Given the description of an element on the screen output the (x, y) to click on. 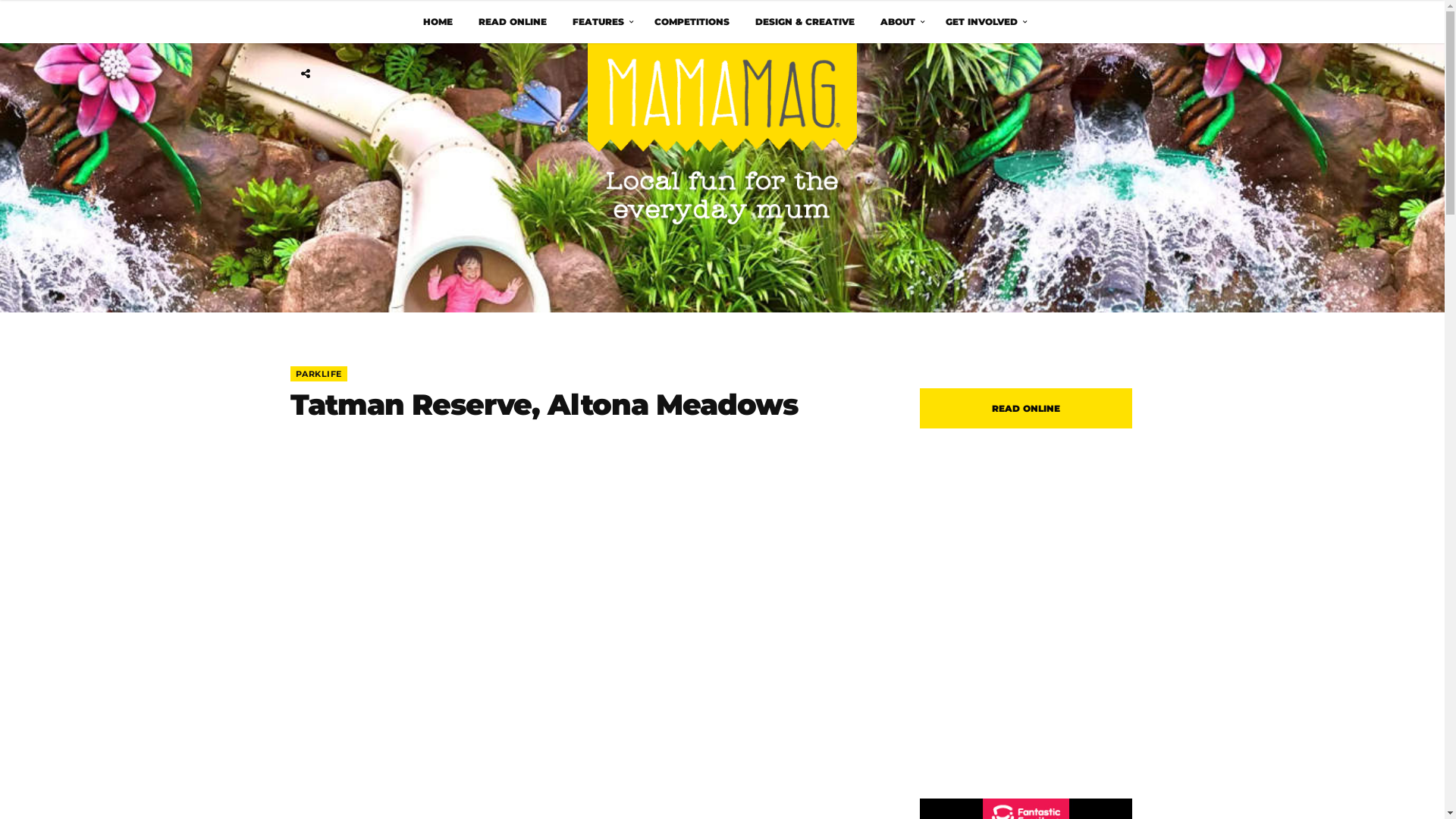
GET INVOLVED Element type: text (983, 21)
ABOUT Element type: text (900, 21)
Read Online Element type: hover (1025, 579)
READ ONLINE Element type: text (512, 21)
DESIGN & CREATIVE Element type: text (804, 21)
HOME Element type: text (437, 21)
Search Element type: hover (1138, 73)
PARKLIFE Element type: text (317, 373)
FEATURES Element type: text (600, 21)
COMPETITIONS Element type: text (691, 21)
